Given the description of an element on the screen output the (x, y) to click on. 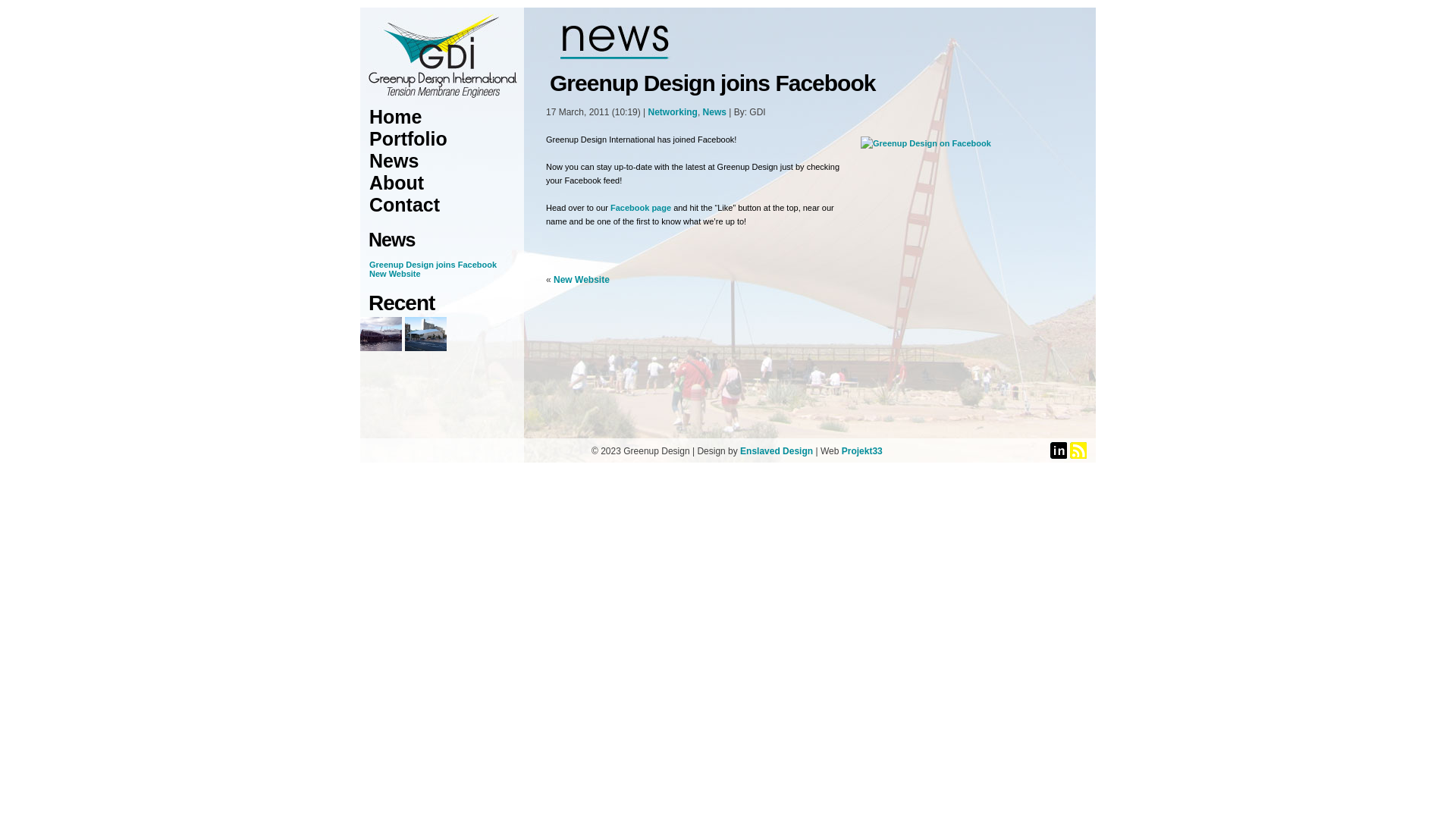
About Element type: text (396, 182)
Networking Element type: text (672, 111)
Contact Element type: text (404, 204)
Britomart Element type: hover (425, 333)
Portfolio Element type: text (407, 138)
Home Element type: text (395, 116)
Auckland, NZ
Completed 2004 Element type: hover (425, 346)
News Element type: text (393, 160)
Projekt33 Element type: text (861, 450)
New Website Element type: text (394, 272)
Greenup Design on Facebook Element type: hover (974, 202)
Auckland; New Zealand
Completed 2004 Element type: hover (380, 346)
Greenup Design joins Facebook Element type: text (432, 263)
Enslaved Design Element type: text (776, 450)
Facebook page Element type: text (640, 207)
New Website Element type: text (581, 279)
News Element type: text (714, 111)
Telecom Pavilion Element type: hover (380, 333)
